Given the description of an element on the screen output the (x, y) to click on. 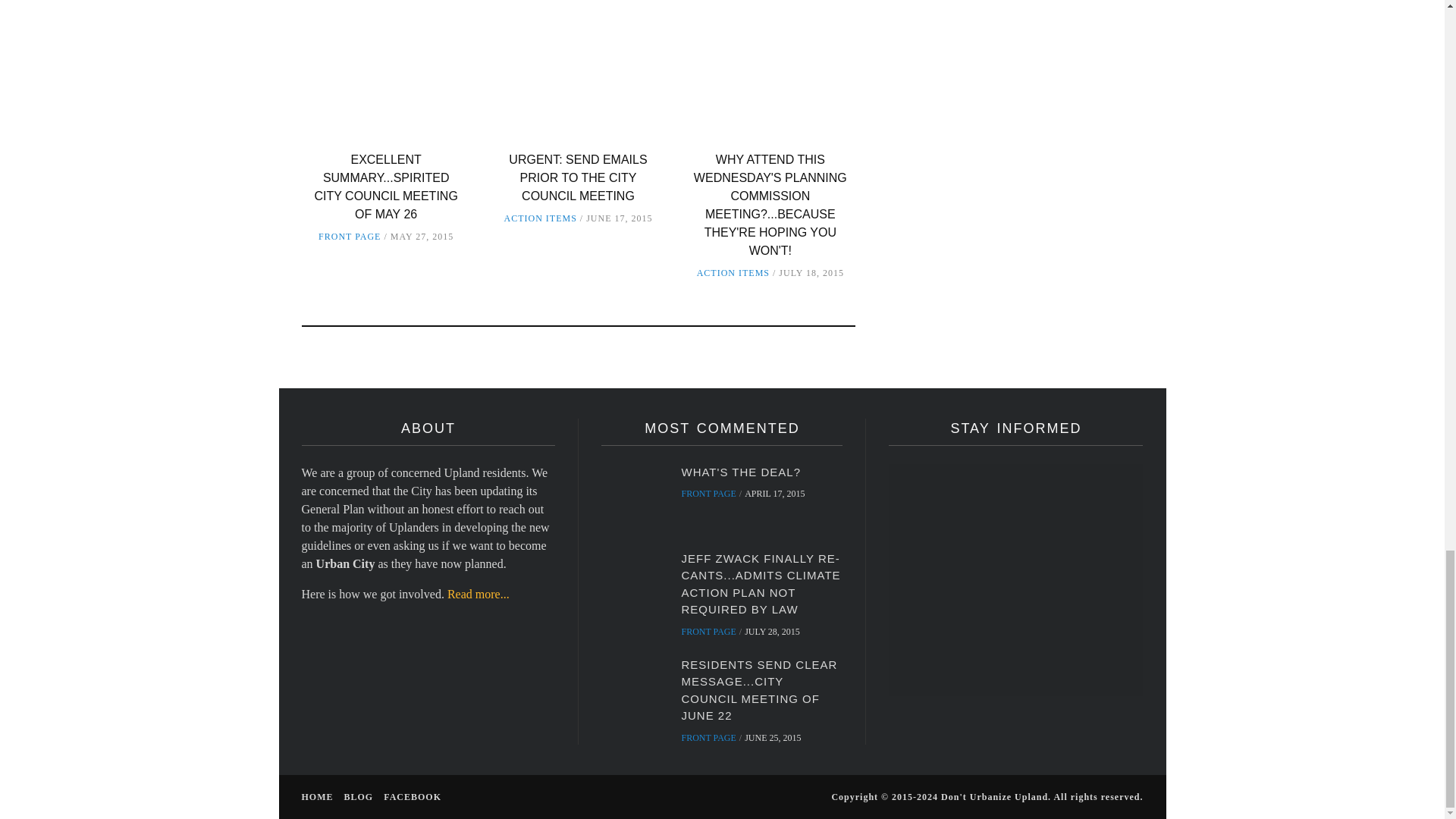
Go to the homepage (317, 796)
